Given the description of an element on the screen output the (x, y) to click on. 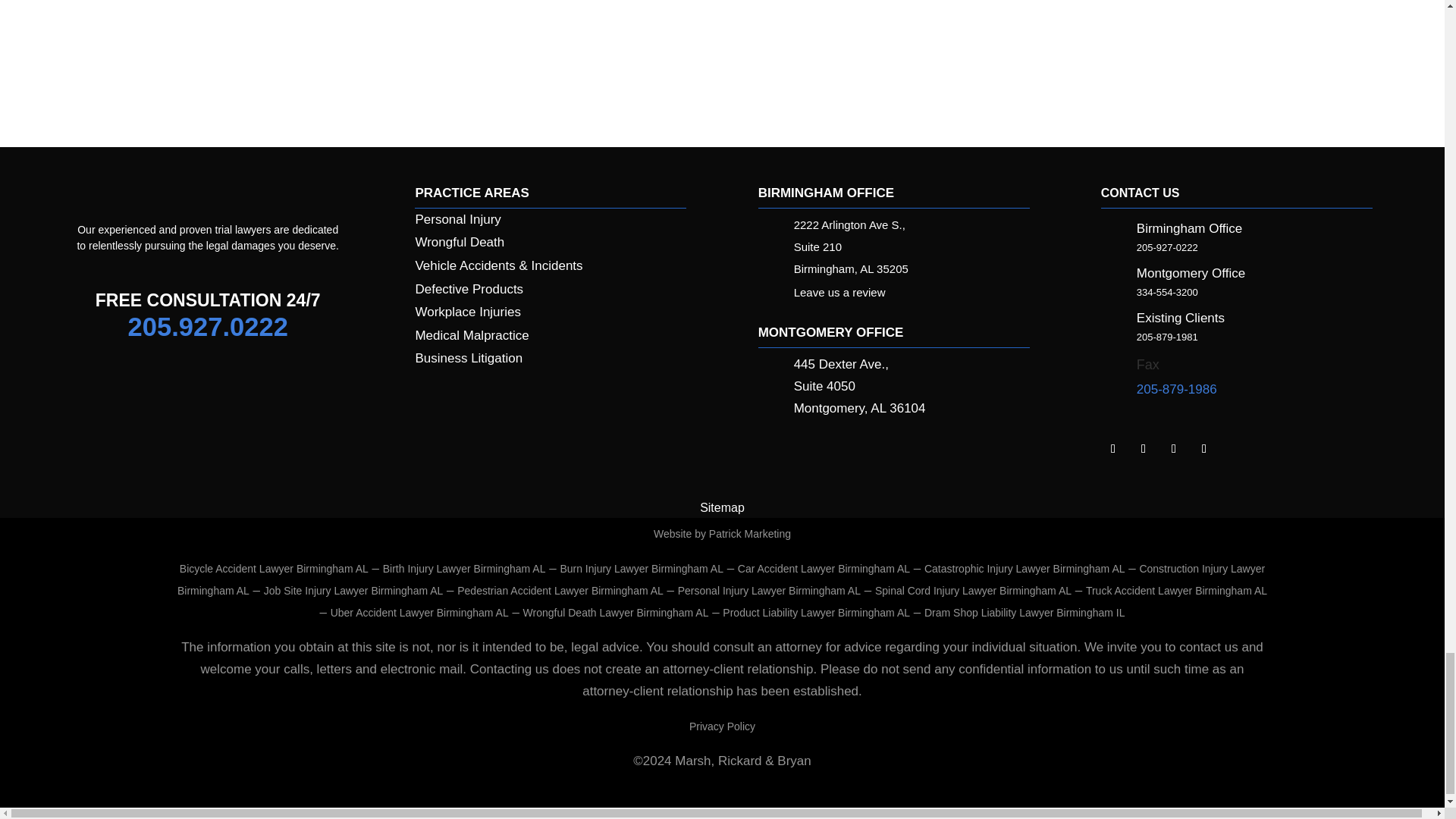
Follow on Facebook (1143, 448)
Follow on Youtube (1203, 448)
Follow on X (1173, 448)
Follow on LinkedIn (1112, 448)
